Given the description of an element on the screen output the (x, y) to click on. 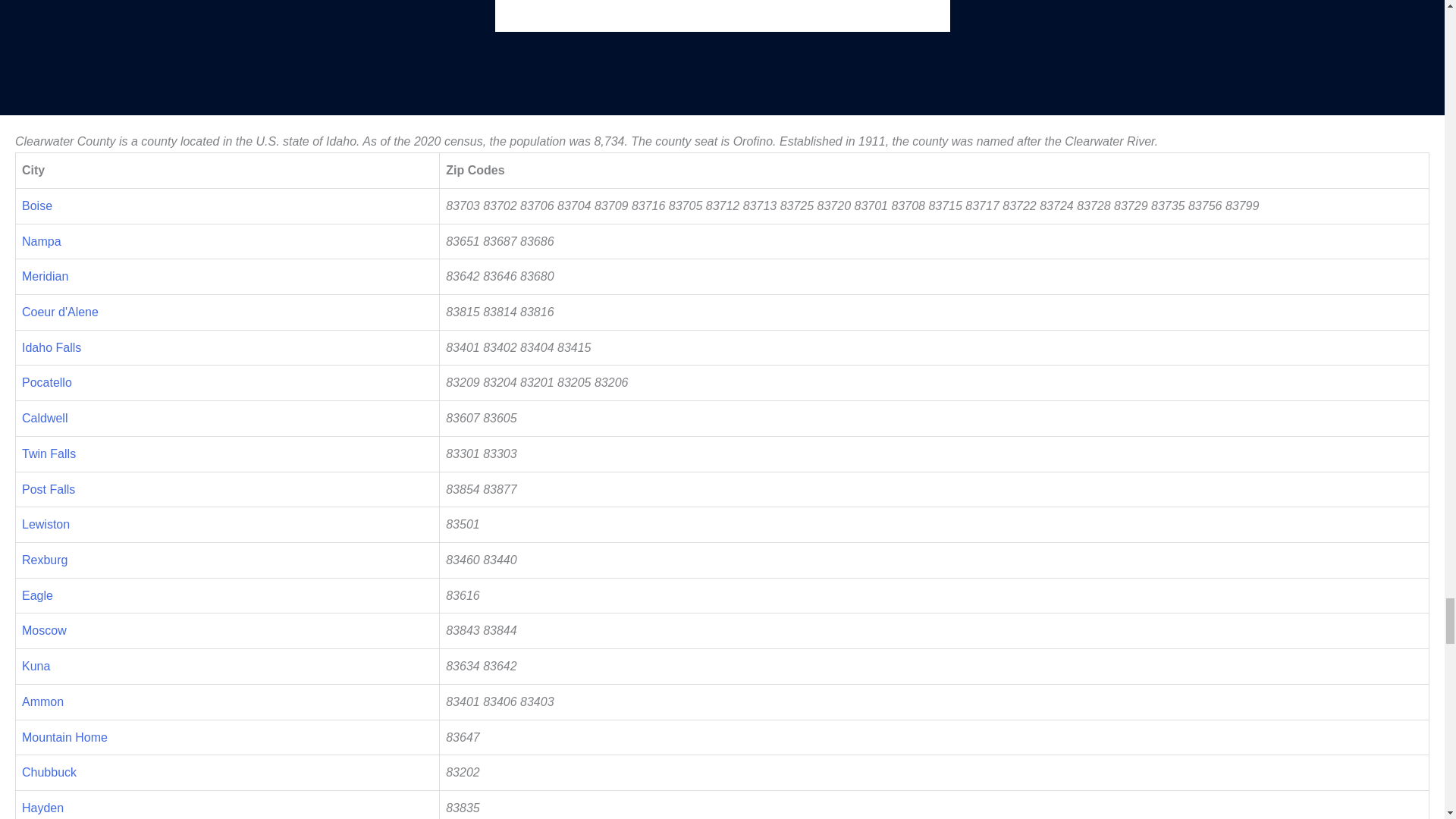
Boise (36, 205)
Caldwell (43, 418)
Idaho Falls (51, 347)
Nampa (41, 241)
Coeur d'Alene (60, 311)
Pocatello (46, 382)
Meridian (44, 276)
